Given the description of an element on the screen output the (x, y) to click on. 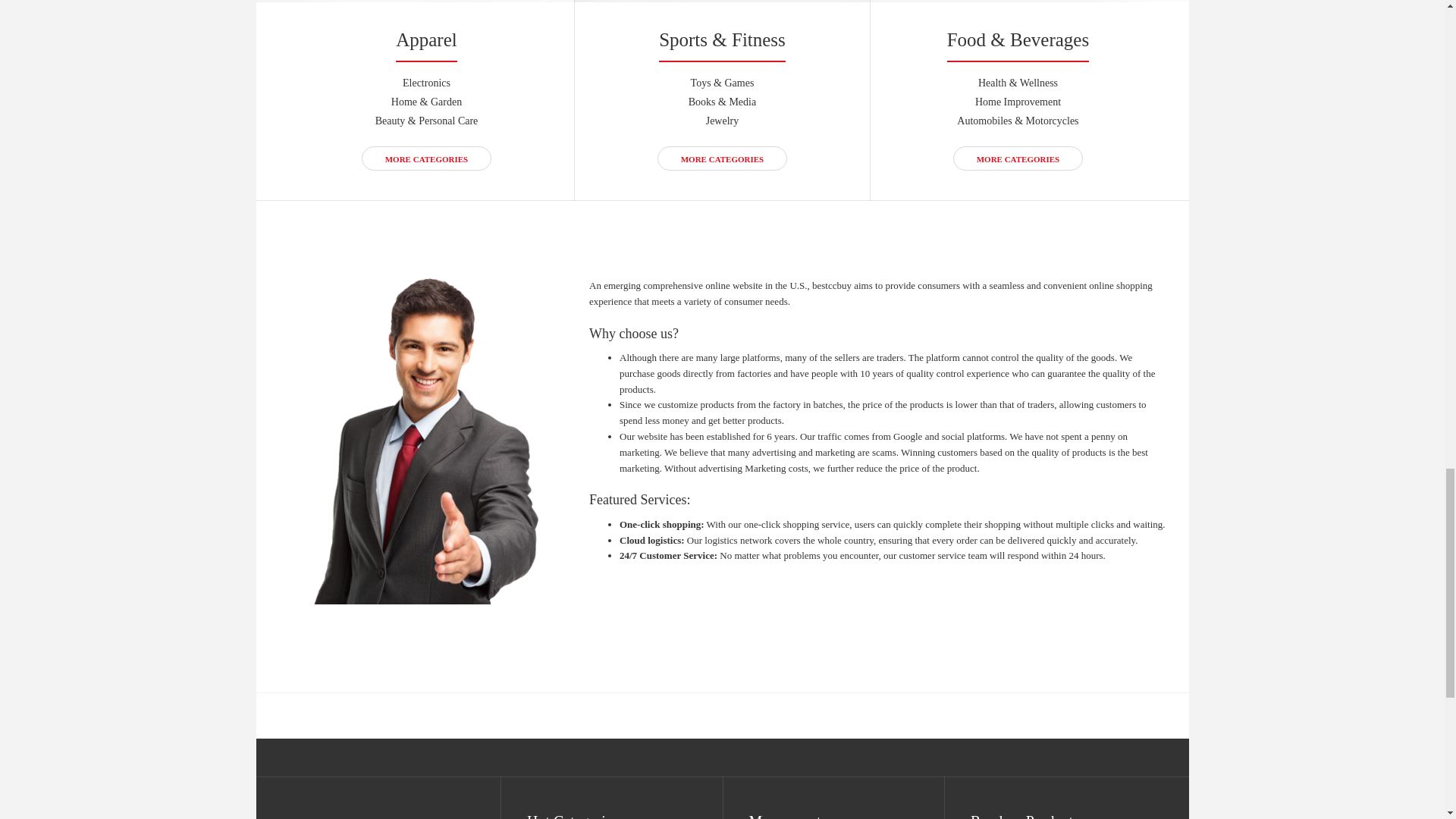
MORE CATEGORIES (426, 158)
Apparel (426, 39)
Electronics (426, 82)
